Given the description of an element on the screen output the (x, y) to click on. 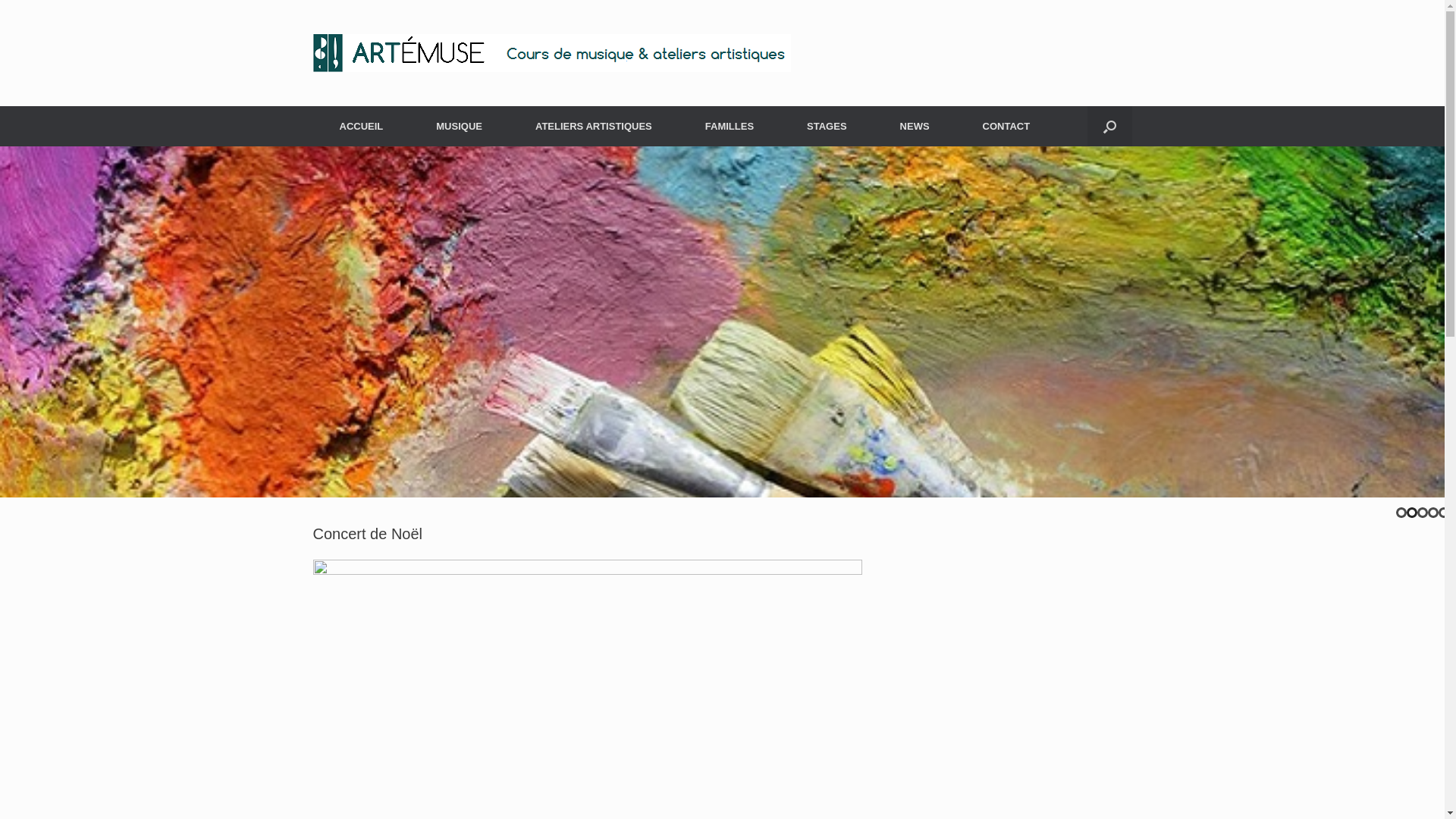
3 Element type: text (1422, 512)
STAGES Element type: text (826, 126)
5 Element type: text (1443, 512)
CONTACT Element type: text (1006, 126)
NEWS Element type: text (914, 126)
ATELIERS ARTISTIQUES Element type: text (593, 126)
MUSIQUE Element type: text (458, 126)
ACCUEIL Element type: text (360, 126)
4 Element type: text (1432, 512)
FAMILLES Element type: text (729, 126)
1 Element type: text (1401, 512)
2 Element type: text (1411, 512)
